Given the description of an element on the screen output the (x, y) to click on. 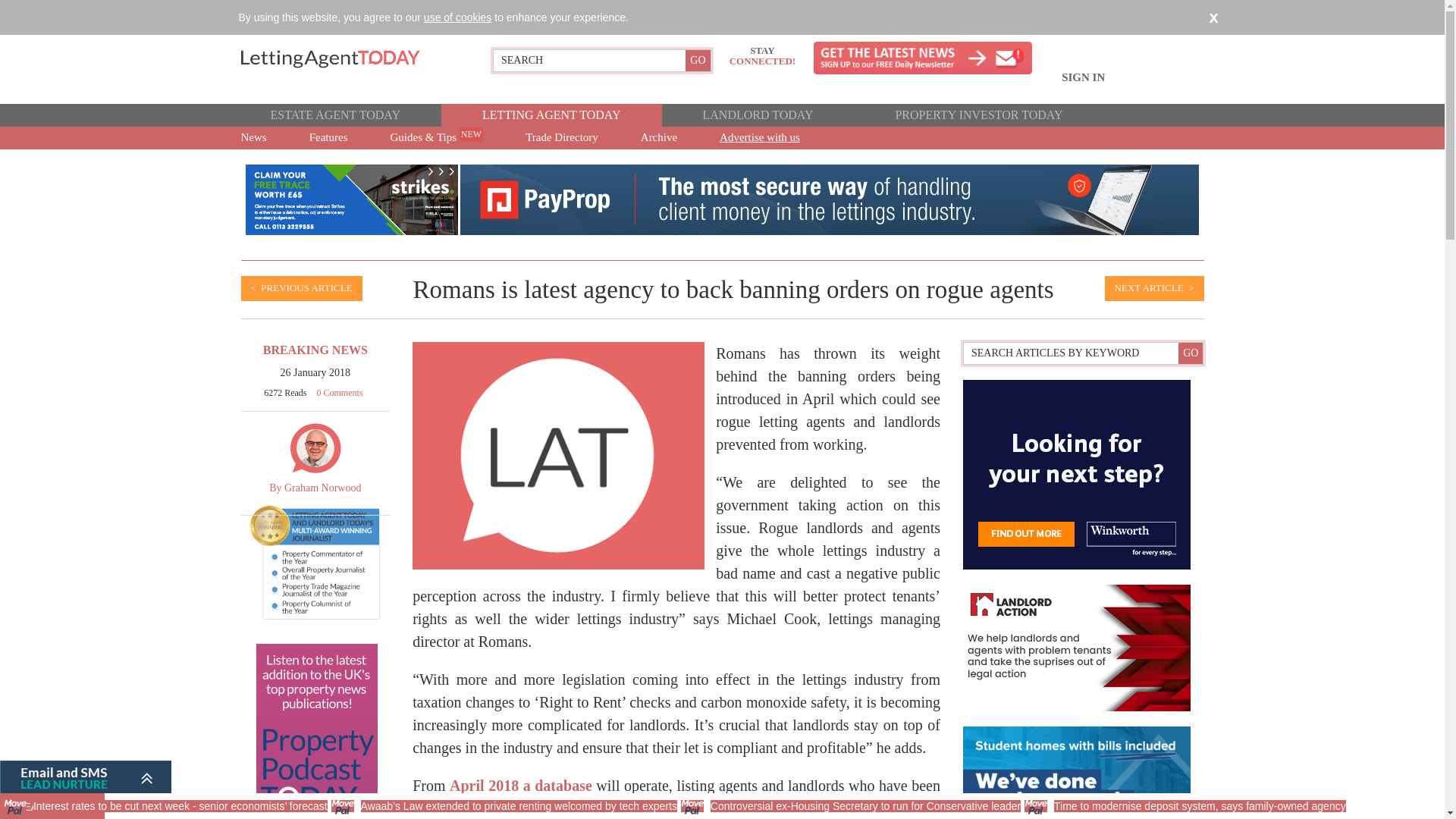
Strikes (352, 199)
Archive (658, 137)
LETTING AGENT TODAY (551, 115)
Features (328, 137)
News (252, 137)
GO (697, 60)
Letting Agent Today (348, 58)
Advertise with us (759, 137)
SIGN IN (1083, 86)
GO (697, 60)
Reapit (829, 199)
use of cookies (457, 17)
PROPERTY INVESTOR TODAY (978, 115)
Trade Directory (561, 137)
ESTATE AGENT TODAY (334, 115)
